Given the description of an element on the screen output the (x, y) to click on. 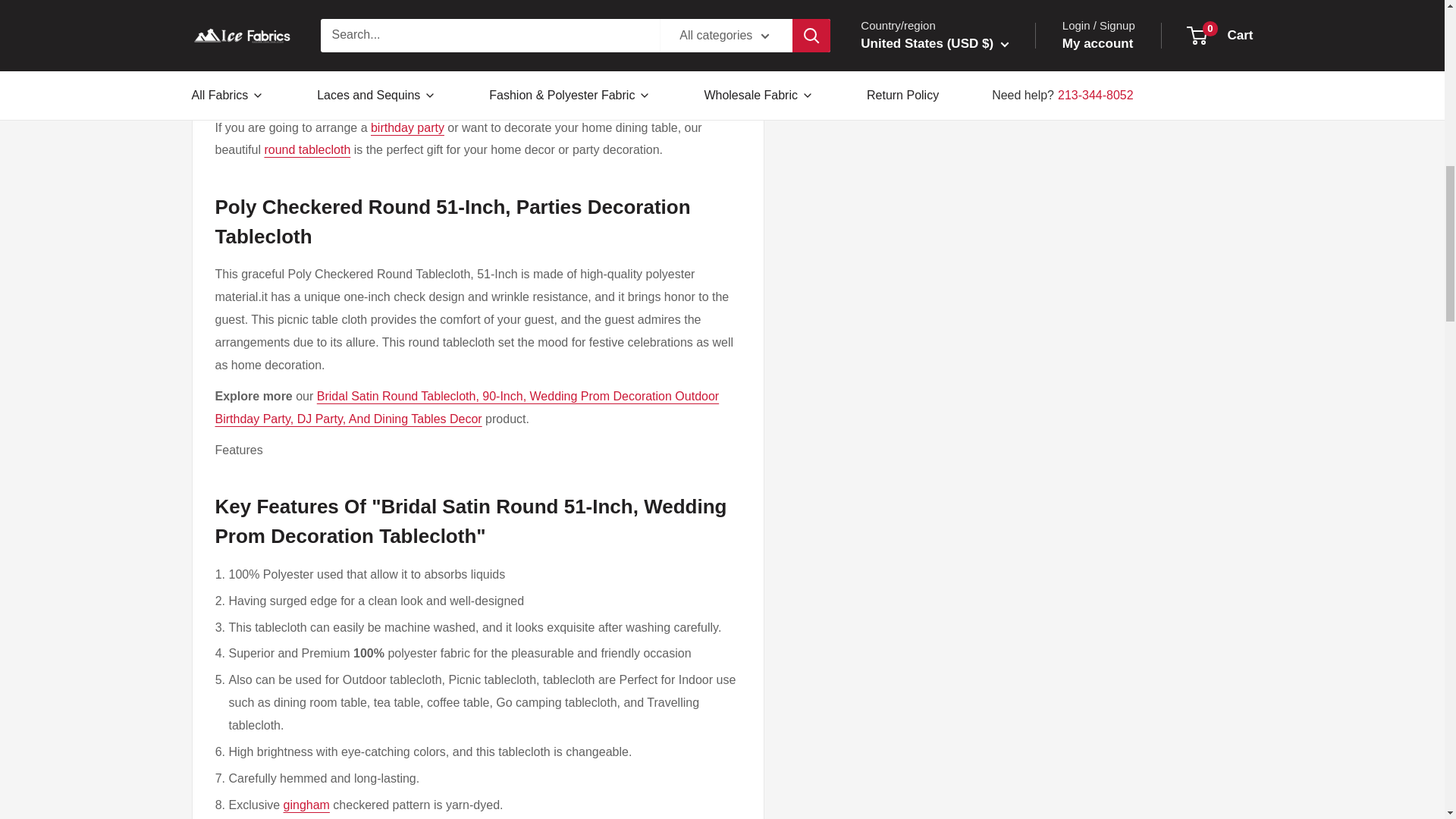
Round Tablecloths - IceFabrics (306, 149)
Gingham - IceFabrics (306, 804)
